Given the description of an element on the screen output the (x, y) to click on. 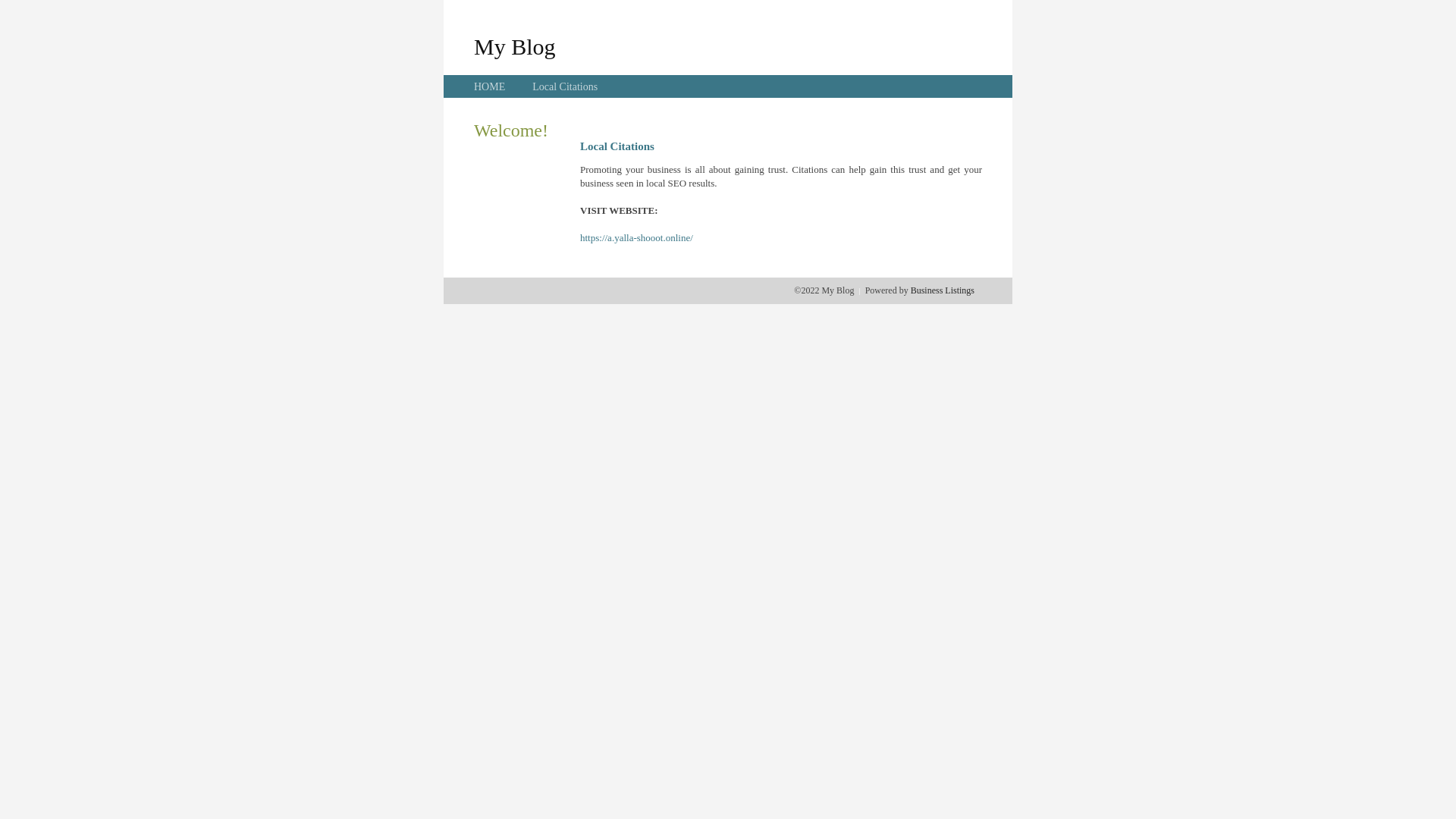
https://a.yalla-shooot.online/ Element type: text (636, 237)
My Blog Element type: text (514, 46)
Local Citations Element type: text (564, 86)
HOME Element type: text (489, 86)
Business Listings Element type: text (942, 290)
